Given the description of an element on the screen output the (x, y) to click on. 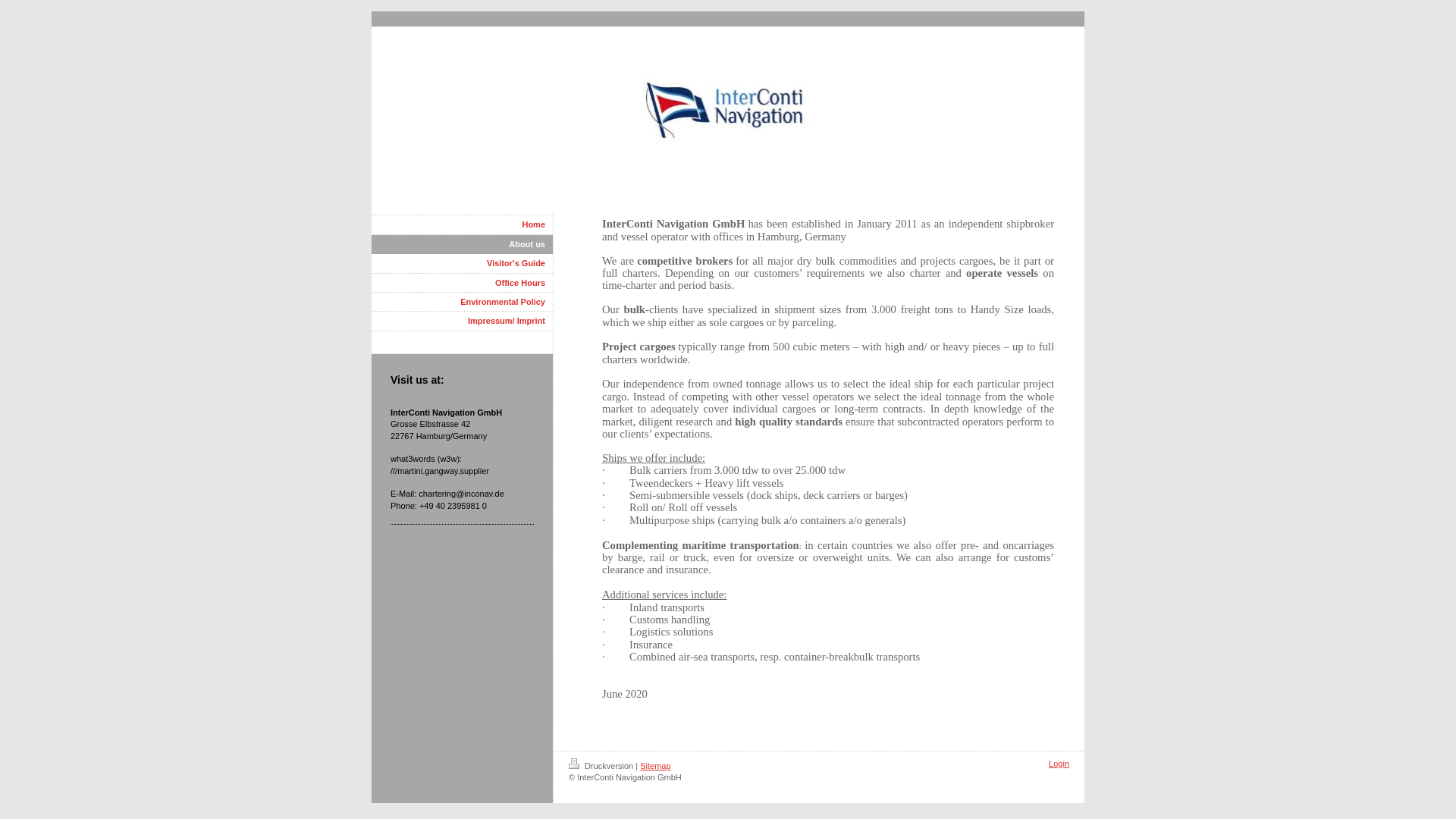
About us (462, 244)
Environmental Policy (462, 302)
Home (462, 224)
Druckversion (601, 765)
Office Hours (462, 282)
Sitemap (654, 765)
Login (1058, 763)
Visitor's Guide (462, 262)
